Given the description of an element on the screen output the (x, y) to click on. 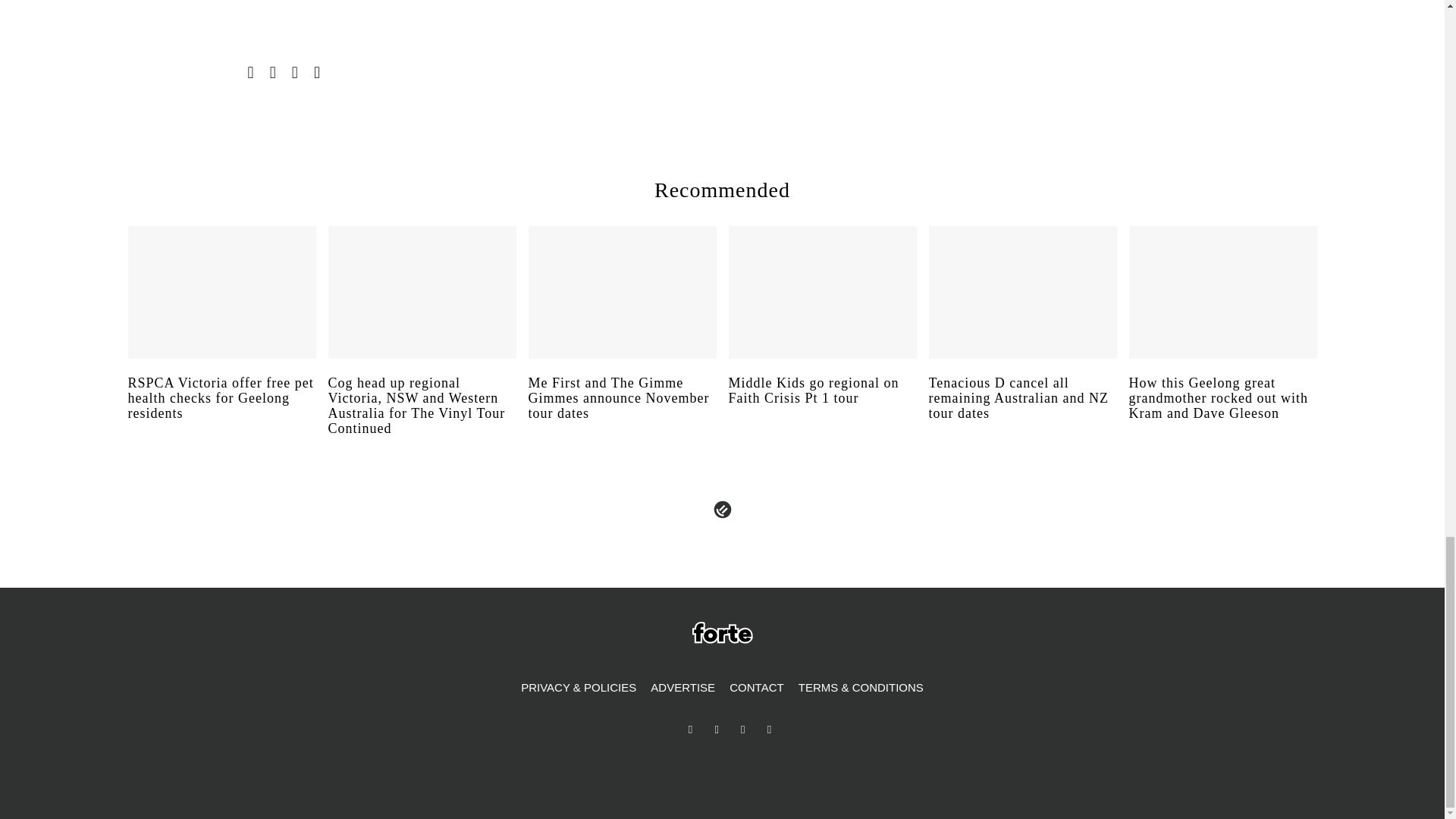
Me First and The Gimme Gimmes announce November tour dates (621, 412)
Middle Kids go regional on Faith Crisis Pt 1 tour (821, 404)
